Given the description of an element on the screen output the (x, y) to click on. 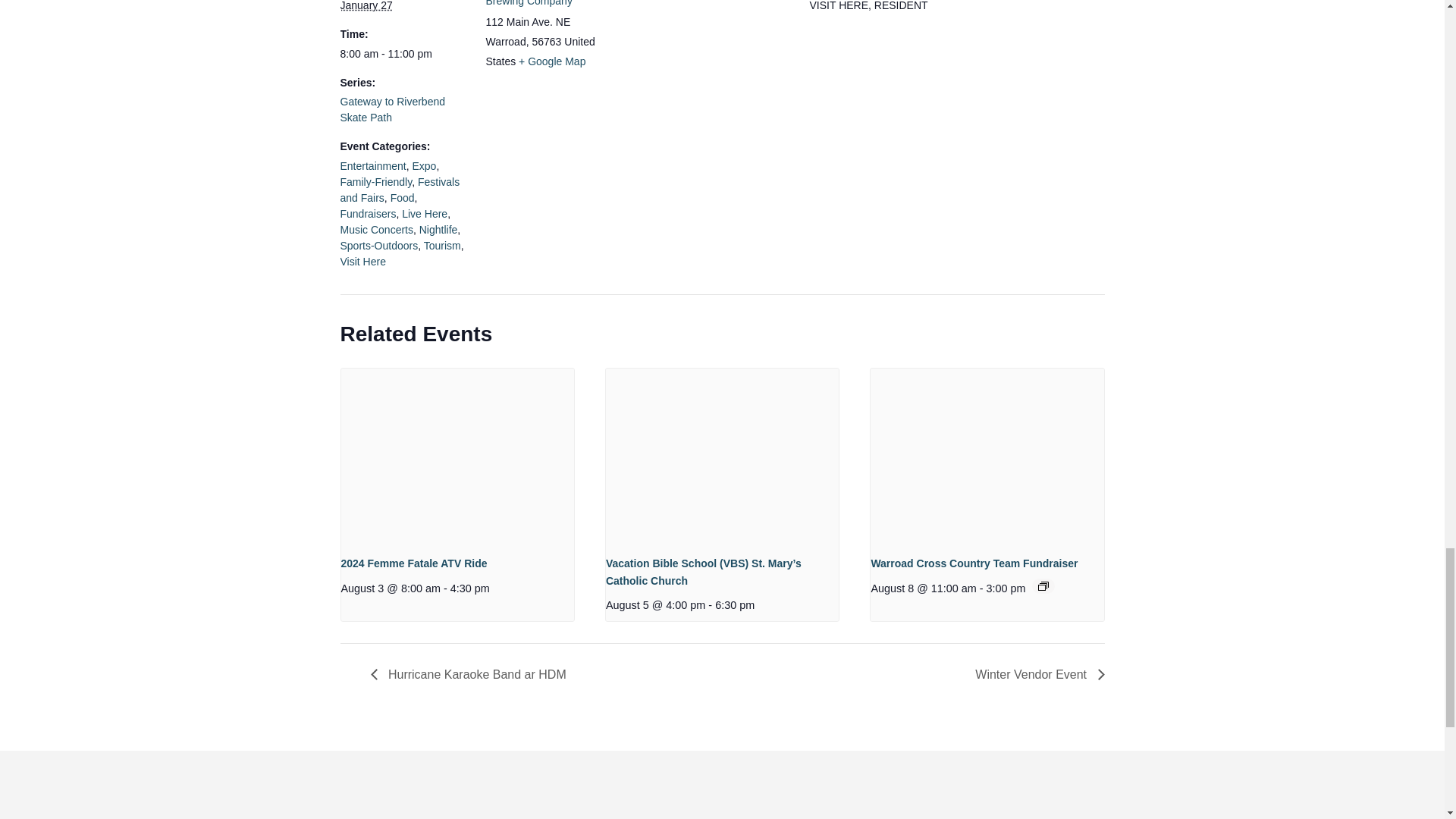
Event Series (1043, 585)
2024-01-27 (403, 53)
2024-01-27 (365, 5)
Click to view a Google Map (551, 61)
Gateway to Riverbend Skate Path (392, 109)
